Given the description of an element on the screen output the (x, y) to click on. 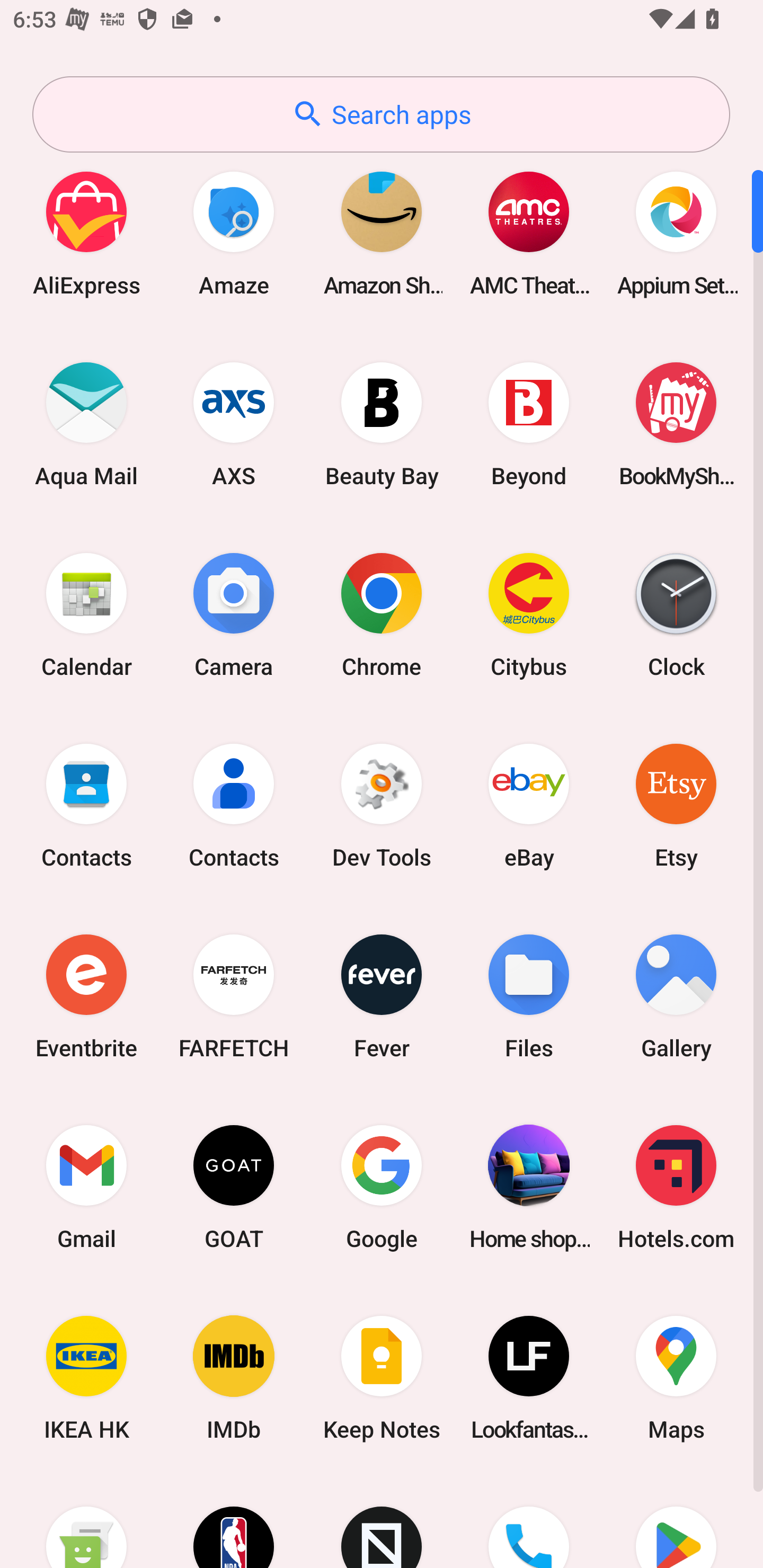
  Search apps (381, 114)
AliExpress (86, 233)
Amaze (233, 233)
Amazon Shopping (381, 233)
AMC Theatres (528, 233)
Appium Settings (676, 233)
Aqua Mail (86, 424)
AXS (233, 424)
Beauty Bay (381, 424)
Beyond (528, 424)
BookMyShow (676, 424)
Calendar (86, 614)
Camera (233, 614)
Chrome (381, 614)
Citybus (528, 614)
Clock (676, 614)
Contacts (86, 805)
Contacts (233, 805)
Dev Tools (381, 805)
eBay (528, 805)
Etsy (676, 805)
Eventbrite (86, 996)
FARFETCH (233, 996)
Fever (381, 996)
Files (528, 996)
Gallery (676, 996)
Gmail (86, 1186)
GOAT (233, 1186)
Google (381, 1186)
Home shopping (528, 1186)
Hotels.com (676, 1186)
IKEA HK (86, 1377)
IMDb (233, 1377)
Keep Notes (381, 1377)
Lookfantastic (528, 1377)
Maps (676, 1377)
Messaging (86, 1520)
NBA (233, 1520)
Novelship (381, 1520)
Phone (528, 1520)
Play Store (676, 1520)
